Given the description of an element on the screen output the (x, y) to click on. 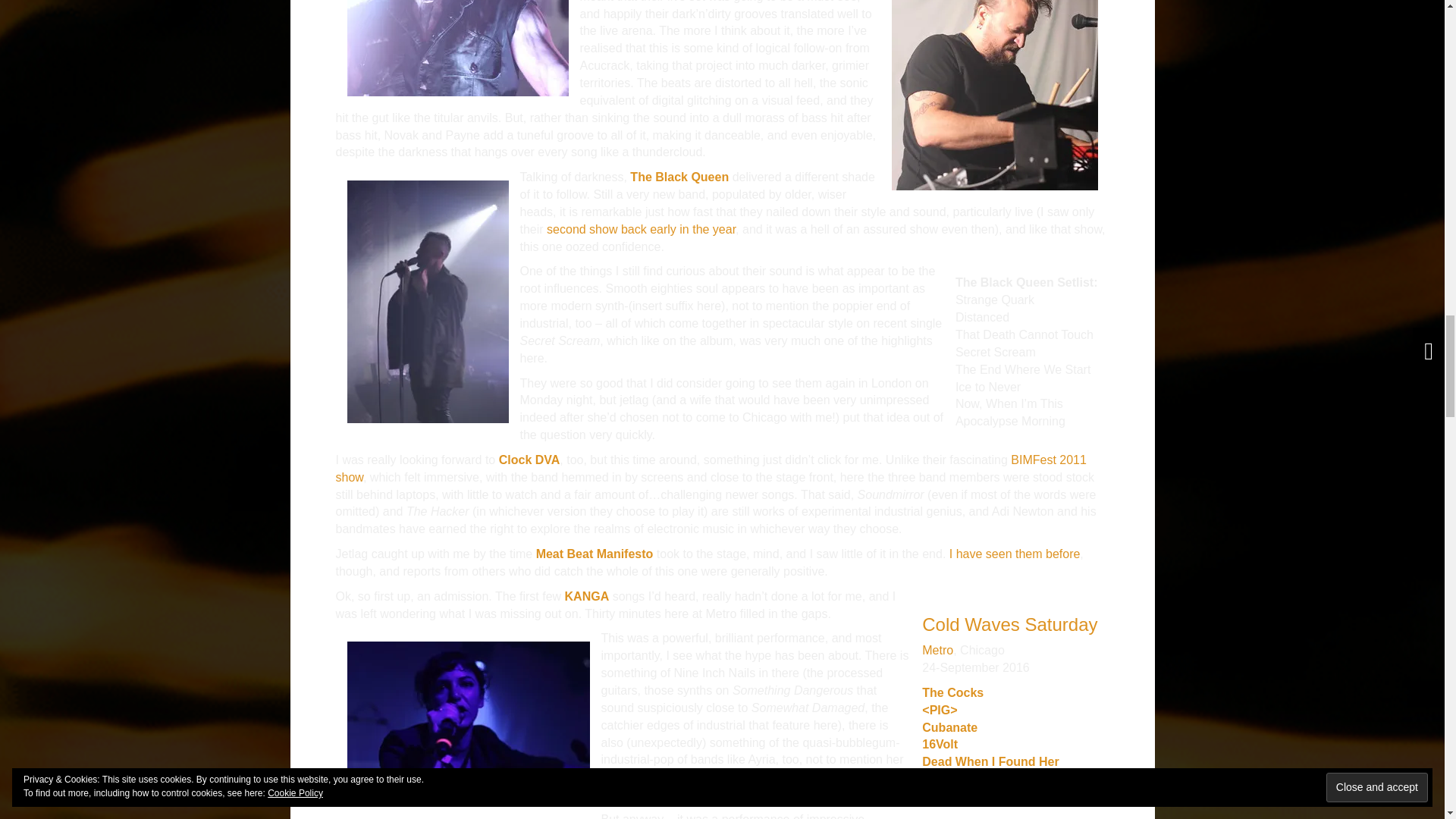
Vampyre Anvil: Cold Waves V: Metro, Chicago: 23-Sep 2016 (994, 67)
The Black Queen: Cold Waves V: Metro, Chicago: 23-Sep 2016 (427, 300)
KANGA: Cold Waves V: Metro, Chicago: 24-Sep 2016 (468, 721)
